Given the description of an element on the screen output the (x, y) to click on. 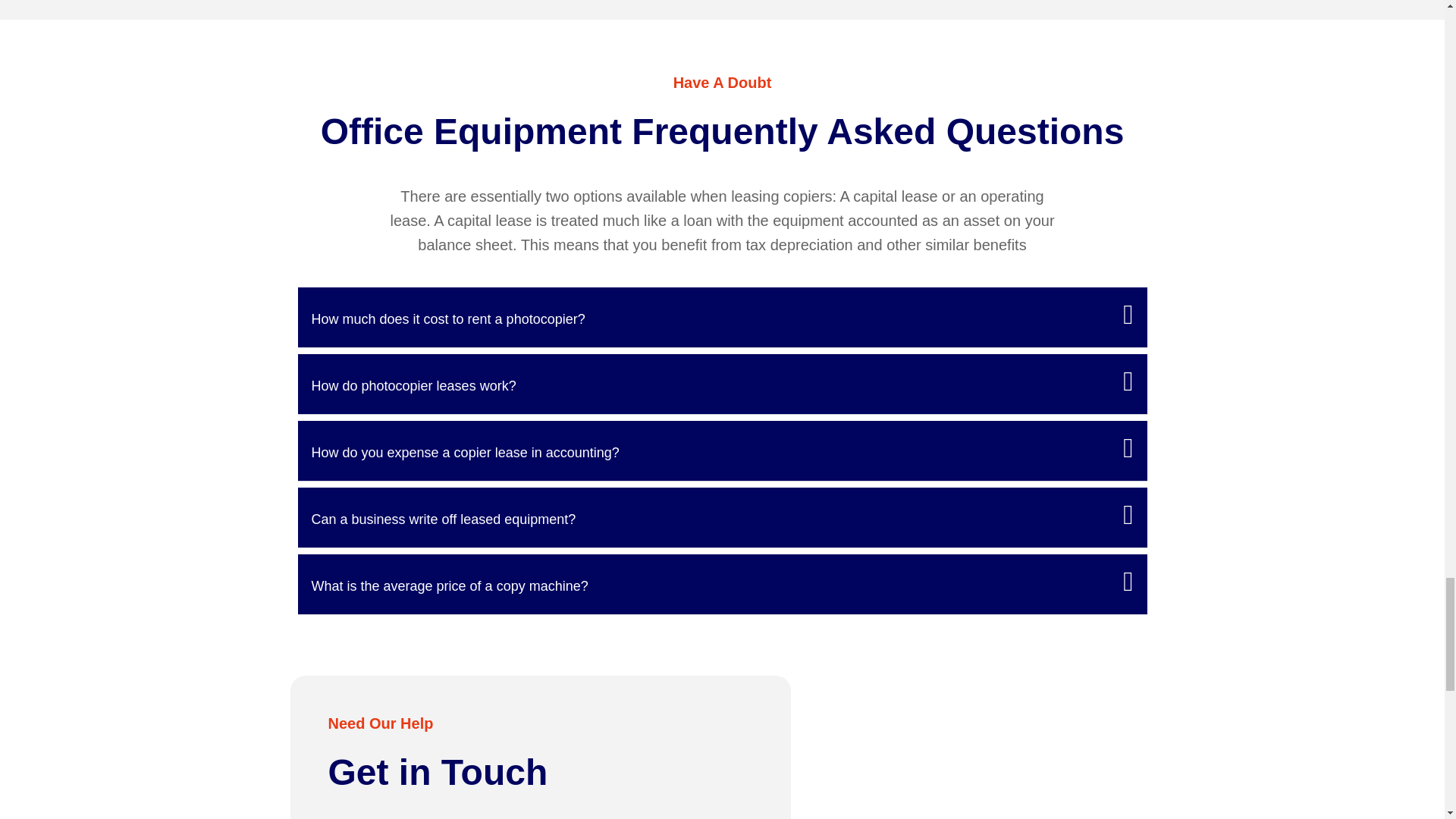
How much does it cost to rent a photocopier? (448, 319)
How do photocopier leases work? (413, 385)
How do you expense a copier lease in accounting? (464, 452)
USA (983, 747)
